Given the description of an element on the screen output the (x, y) to click on. 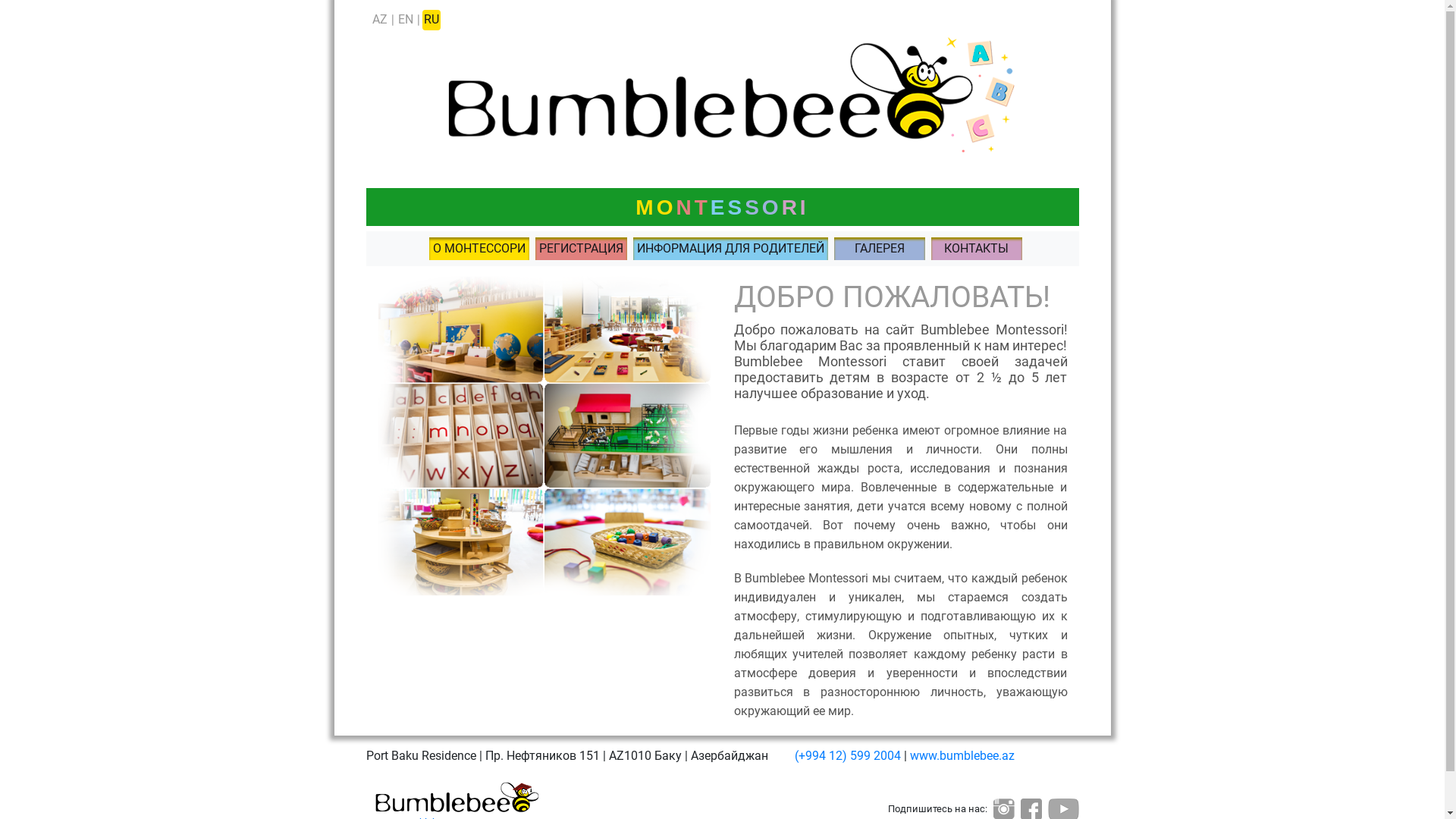
RU Element type: text (430, 19)
EN Element type: text (404, 19)
Back to main page Element type: hover (721, 90)
MONTESSORI Element type: text (721, 206)
AZ Element type: text (379, 19)
www.bumblebee.az Element type: text (962, 755)
(+994 12) 599 2004 Element type: text (848, 755)
